Given the description of an element on the screen output the (x, y) to click on. 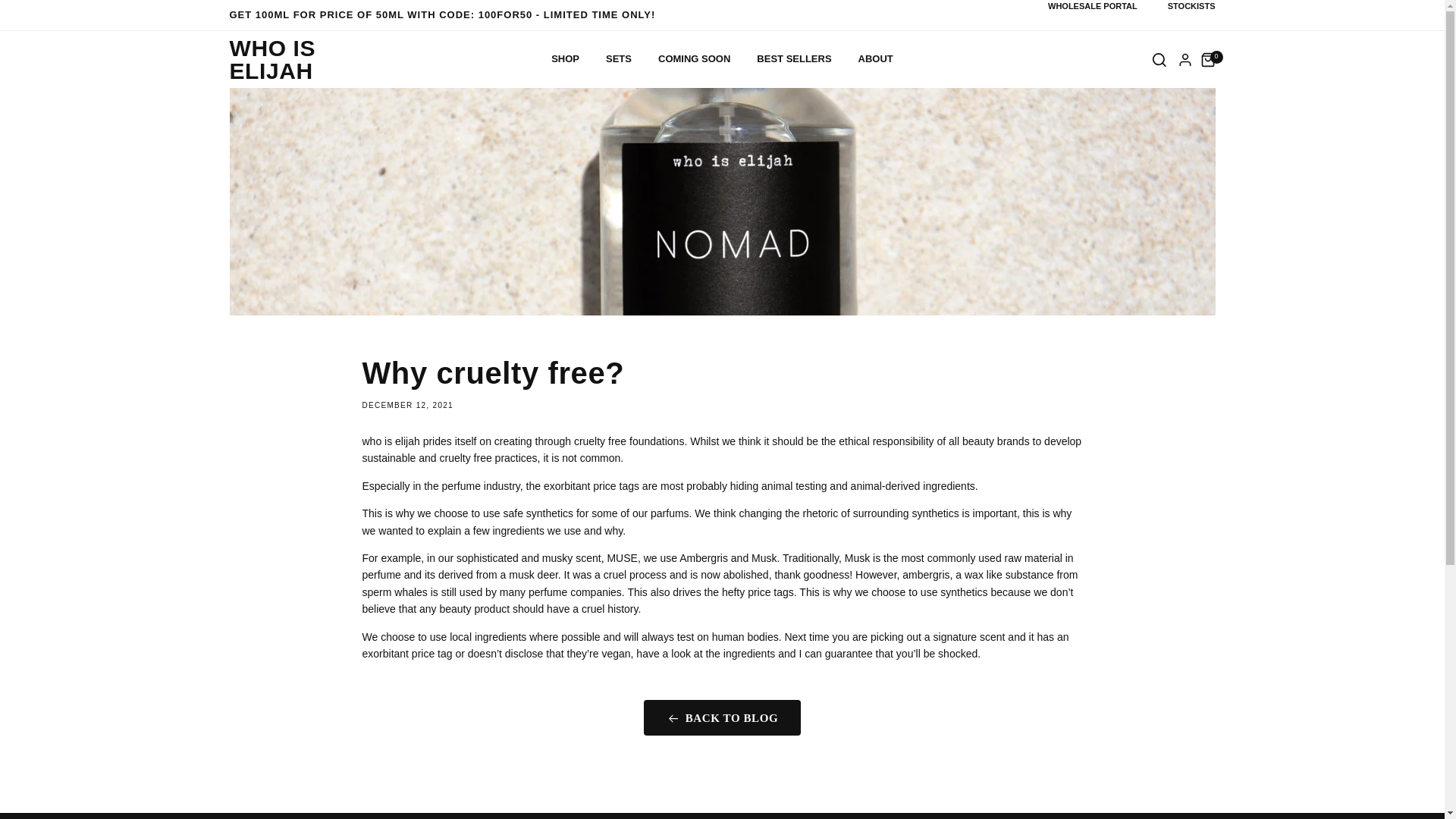
STOCKISTS (1191, 5)
WHOLESALE PORTAL (1092, 5)
Discovery Set (868, 97)
Shop (565, 58)
ELECTRIC SOUL (575, 97)
Wholesale Portal (1092, 5)
SKIP TO CONTENT (45, 17)
Wholesale Portal (1191, 5)
SHOP ALL (575, 98)
